Given the description of an element on the screen output the (x, y) to click on. 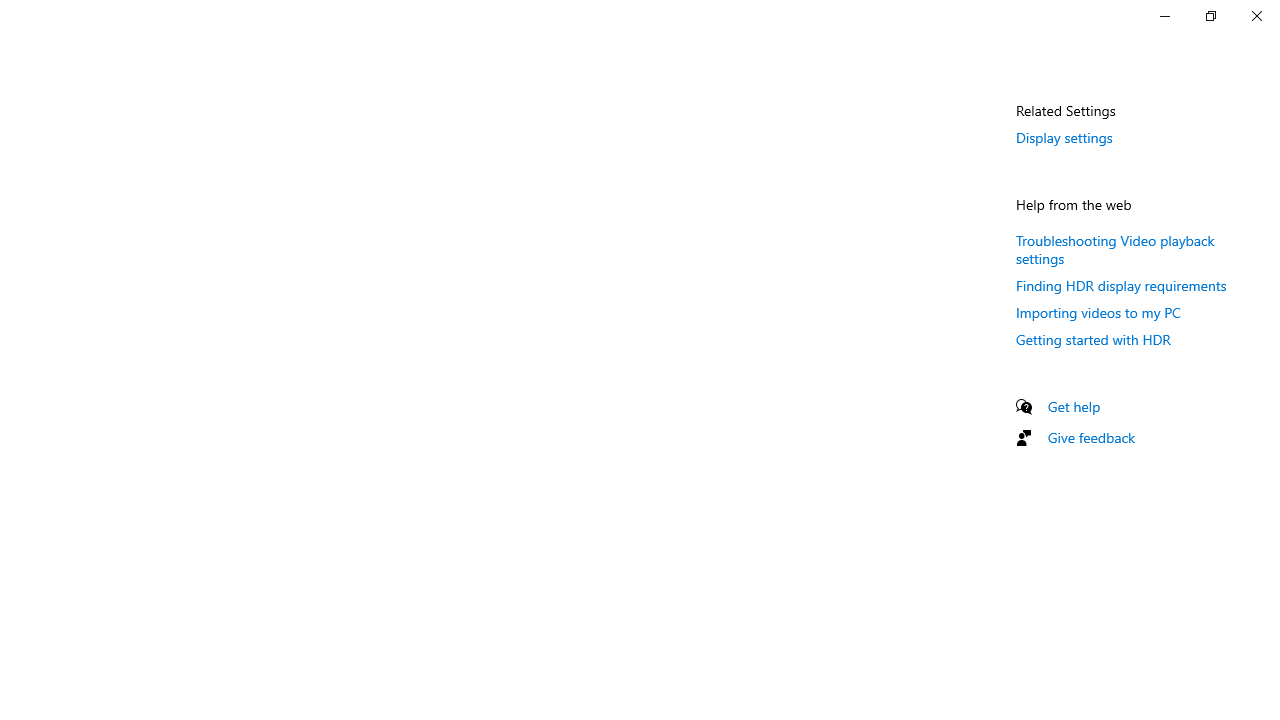
Restore Settings (1210, 15)
Finding HDR display requirements (1121, 285)
Display settings (1064, 137)
Get help (1074, 406)
Close Settings (1256, 15)
Troubleshooting Video playback settings (1115, 248)
Give feedback (1091, 437)
Getting started with HDR (1093, 339)
Importing videos to my PC (1098, 312)
Minimize Settings (1164, 15)
